Given the description of an element on the screen output the (x, y) to click on. 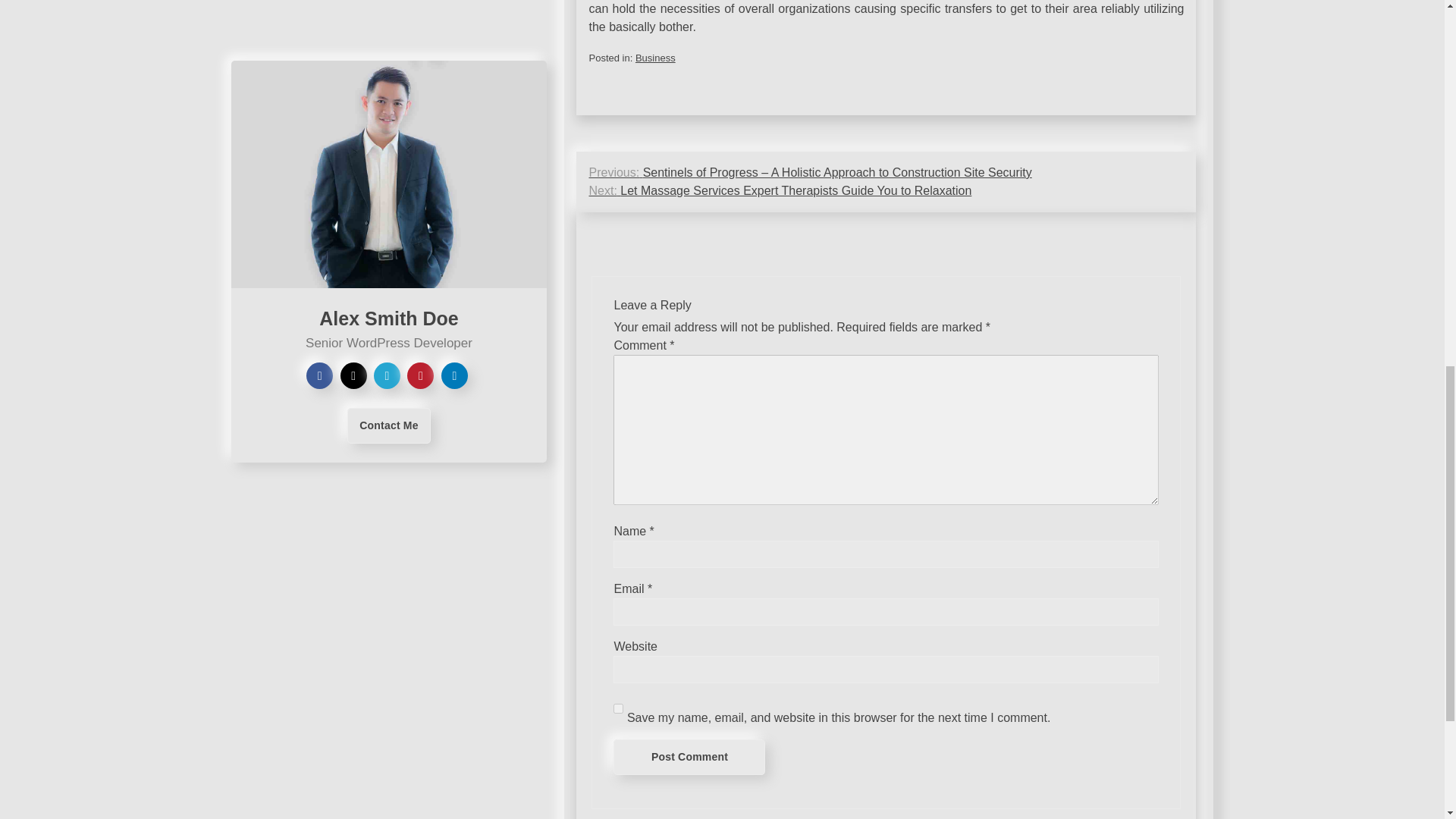
Business (654, 57)
yes (617, 708)
Post Comment (688, 756)
Post Comment (688, 756)
